Given the description of an element on the screen output the (x, y) to click on. 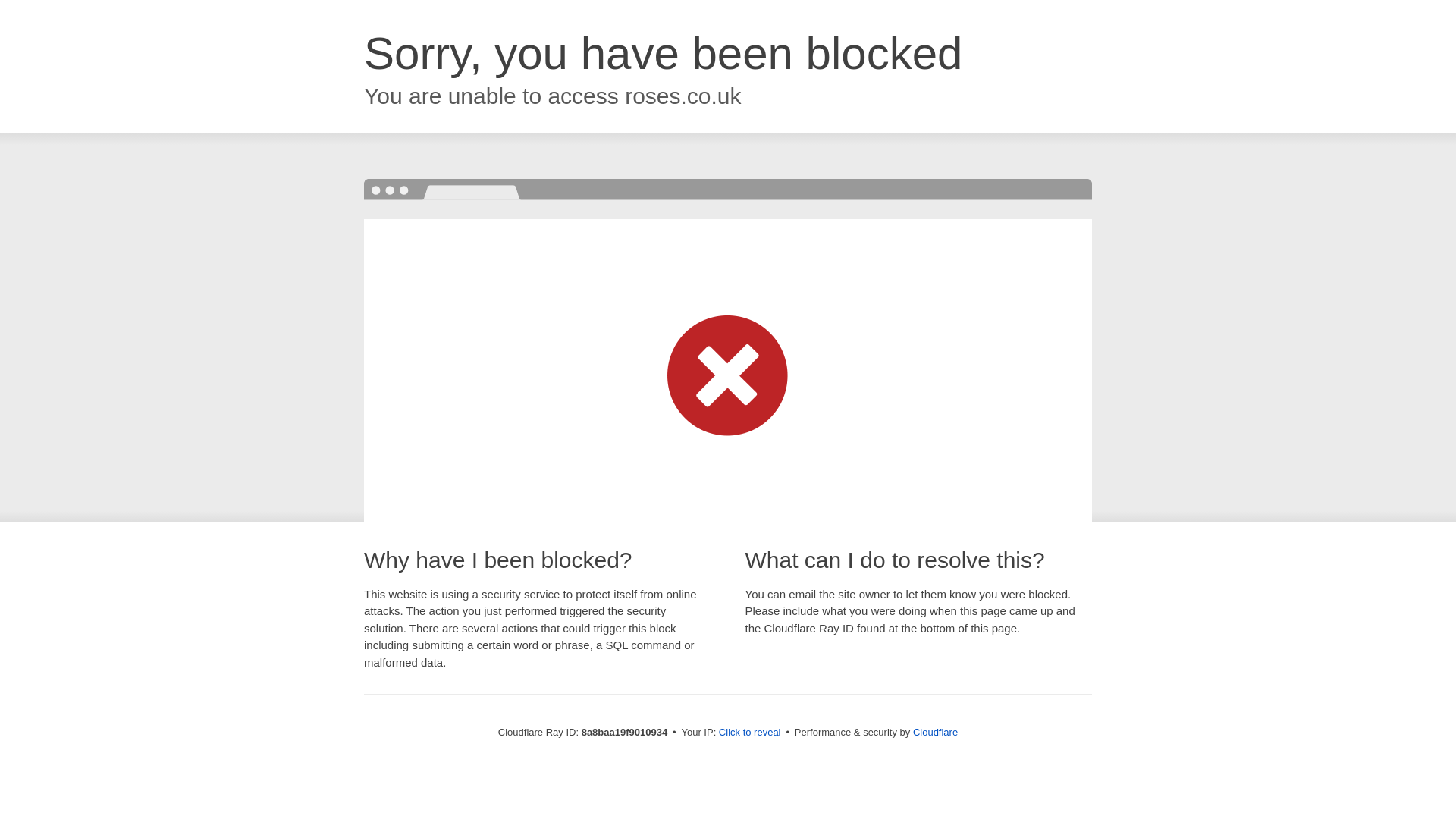
Cloudflare (935, 731)
Click to reveal (749, 732)
